Given the description of an element on the screen output the (x, y) to click on. 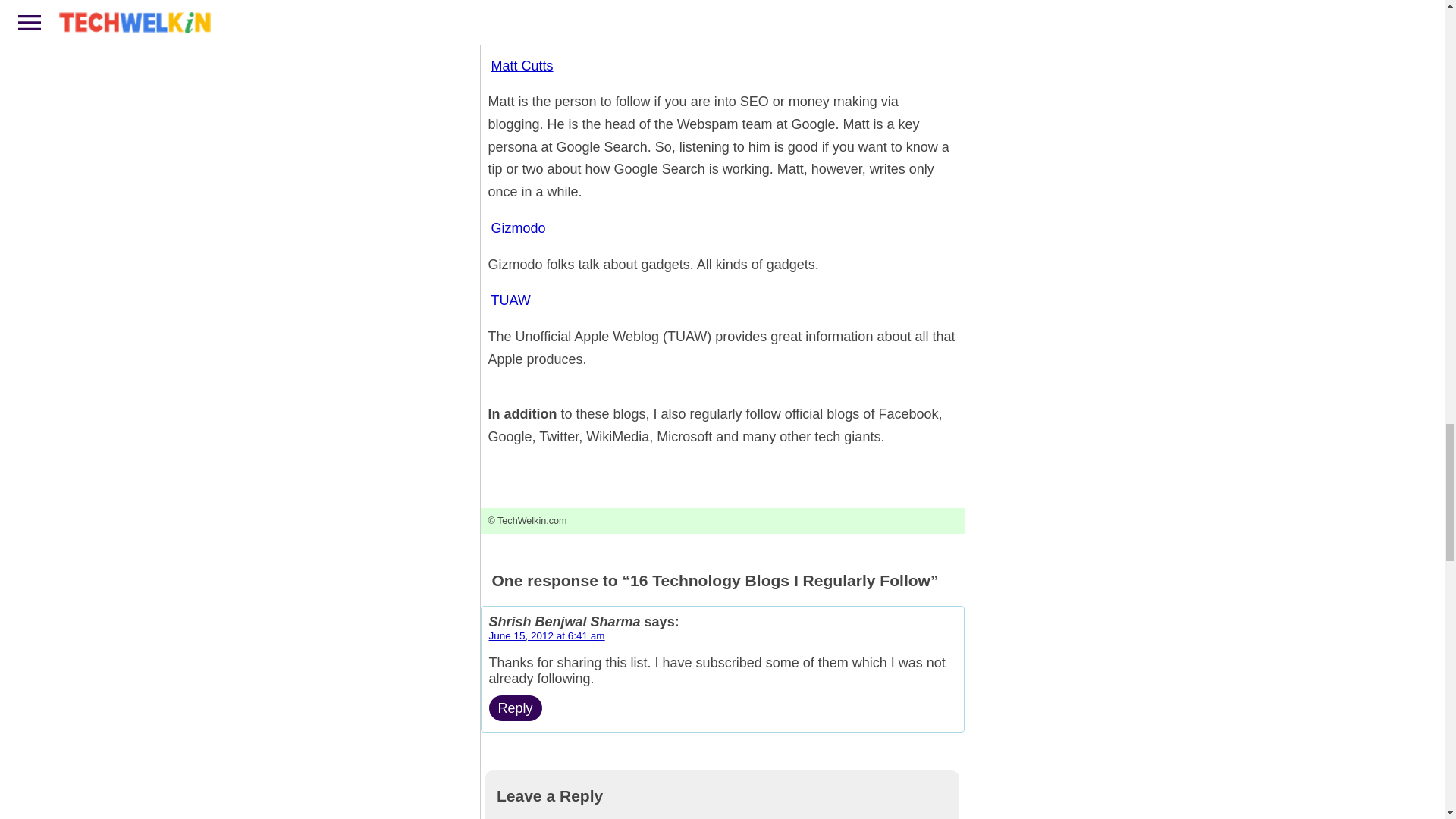
Gizmodo (517, 228)
TUAW (510, 300)
Matt Cutts (521, 65)
June 15, 2012 at 6:41 am (545, 635)
Reply (514, 708)
